Given the description of an element on the screen output the (x, y) to click on. 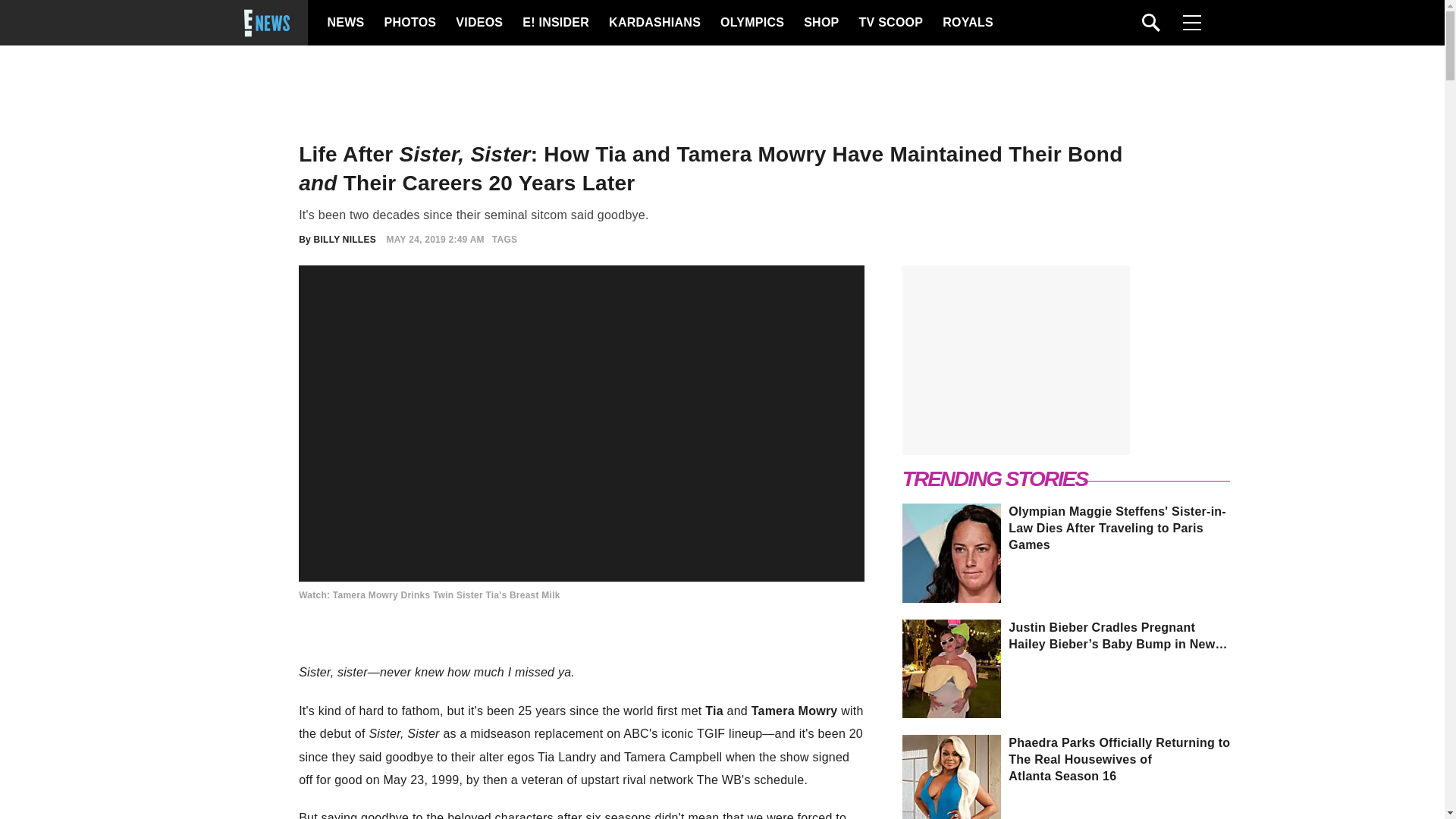
PHOTOS (408, 22)
ROYALS (966, 22)
E! INSIDER (555, 22)
OLYMPICS (751, 22)
BILLY NILLES (344, 239)
VIDEOS (478, 22)
NEWS (345, 22)
KARDASHIANS (653, 22)
TV SCOOP (890, 22)
SHOP (820, 22)
